Given the description of an element on the screen output the (x, y) to click on. 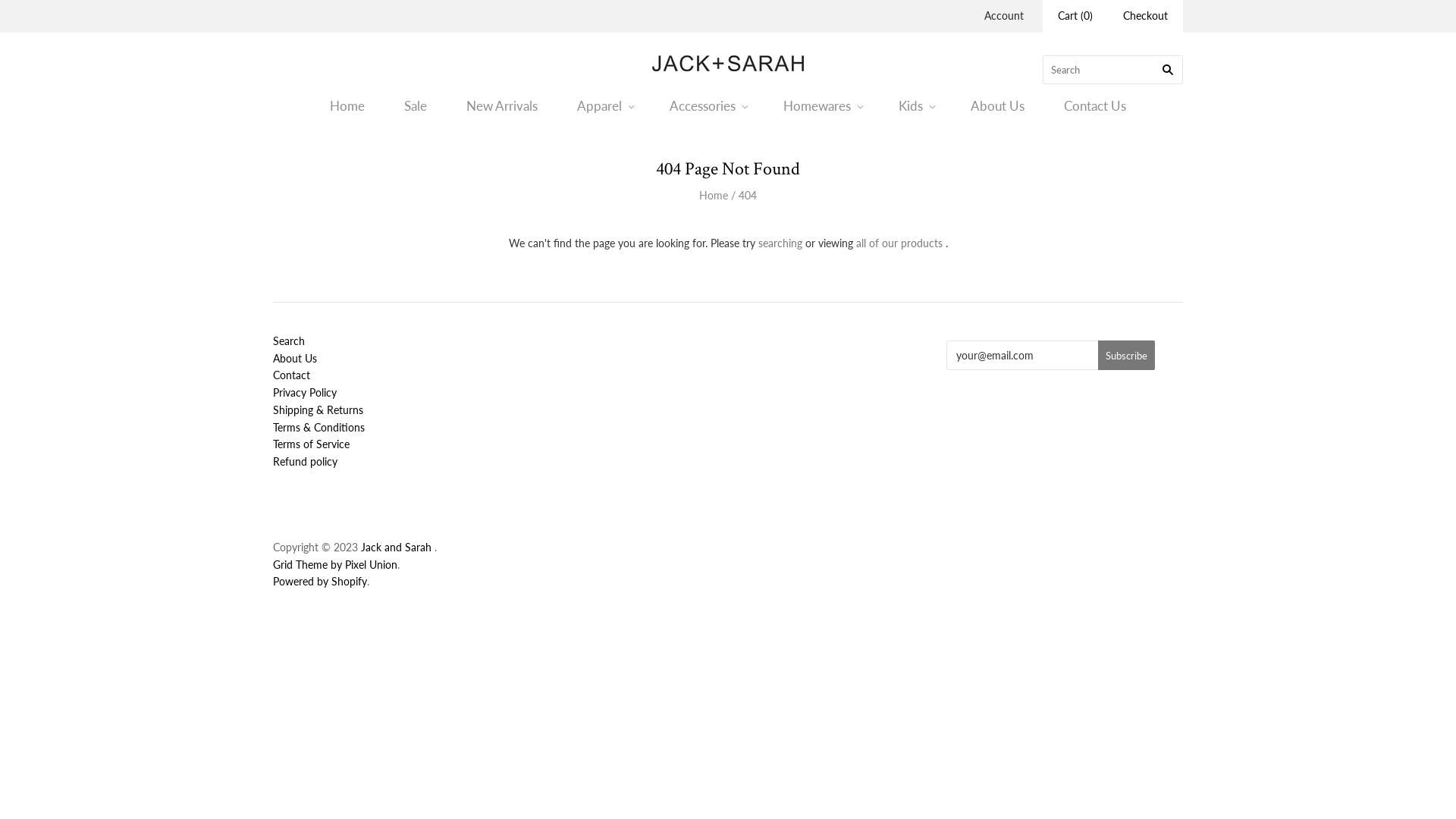
Refund policy Element type: text (305, 461)
Cart (0) Element type: text (1074, 16)
Checkout Element type: text (1145, 16)
Accessories Element type: text (706, 105)
About Us Element type: text (997, 105)
Search Element type: text (288, 340)
Kids Element type: text (914, 105)
searching Element type: text (780, 242)
Sale Element type: text (415, 105)
About Us Element type: text (294, 357)
Jack and Sarah Element type: text (397, 546)
Terms & Conditions Element type: text (318, 426)
Apparel Element type: text (603, 105)
Grid Theme by Pixel Union Element type: text (335, 564)
Terms of Service Element type: text (311, 443)
Contact Element type: text (291, 374)
Contact Us Element type: text (1094, 105)
Shipping & Returns Element type: text (318, 409)
New Arrivals Element type: text (501, 105)
Home Element type: text (713, 194)
Subscribe Element type: text (1126, 355)
Powered by Shopify Element type: text (320, 580)
Home Element type: text (347, 105)
Privacy Policy Element type: text (304, 391)
Account Element type: text (1003, 15)
all of our products Element type: text (898, 242)
Homewares Element type: text (820, 105)
